Given the description of an element on the screen output the (x, y) to click on. 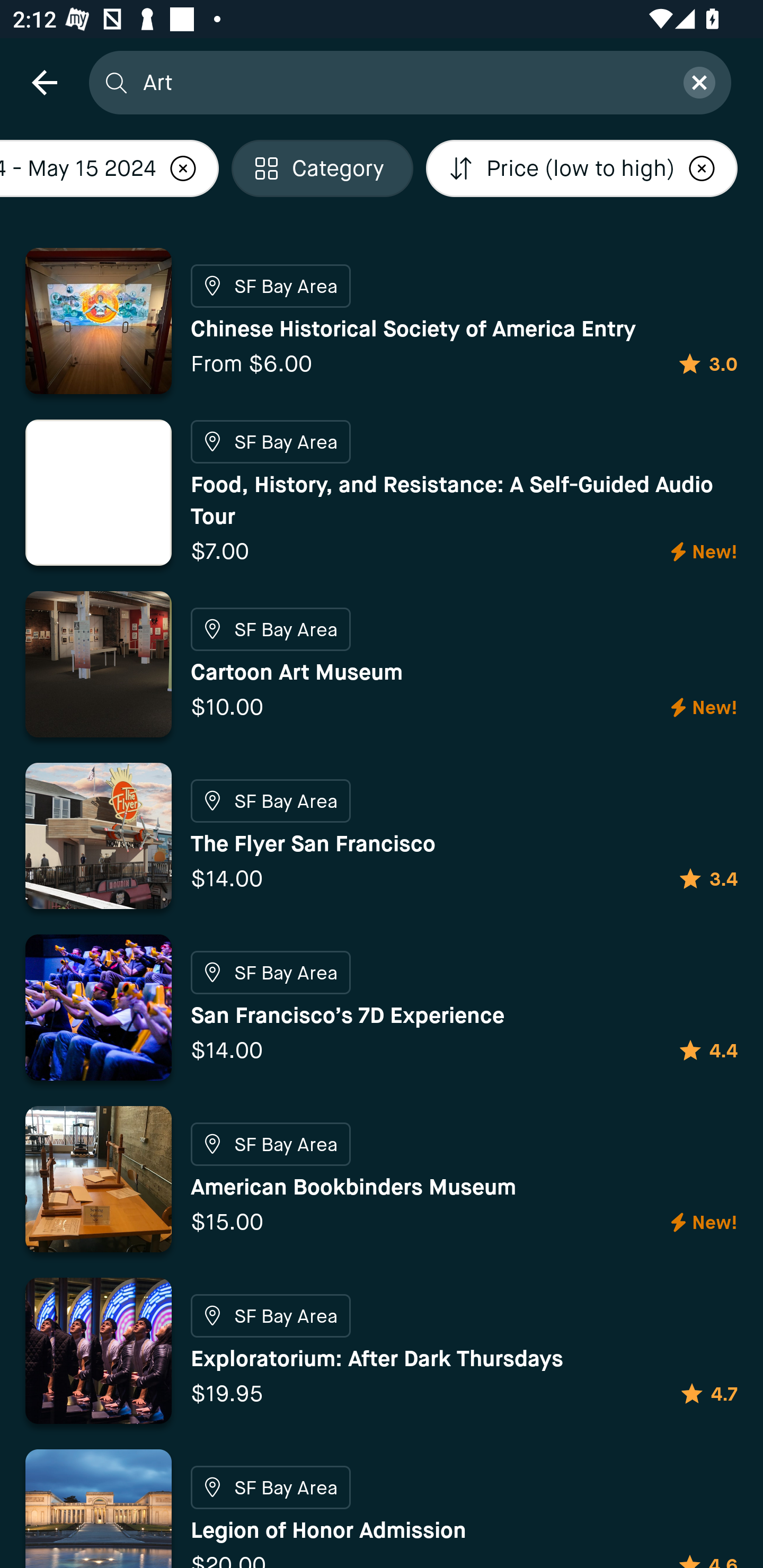
navigation icon (44, 81)
Art (402, 81)
May 1 2024 - May 15 2024 Localized description (109, 168)
Localized description (182, 168)
Localized description Category (322, 168)
Localized description (701, 168)
